Given the description of an element on the screen output the (x, y) to click on. 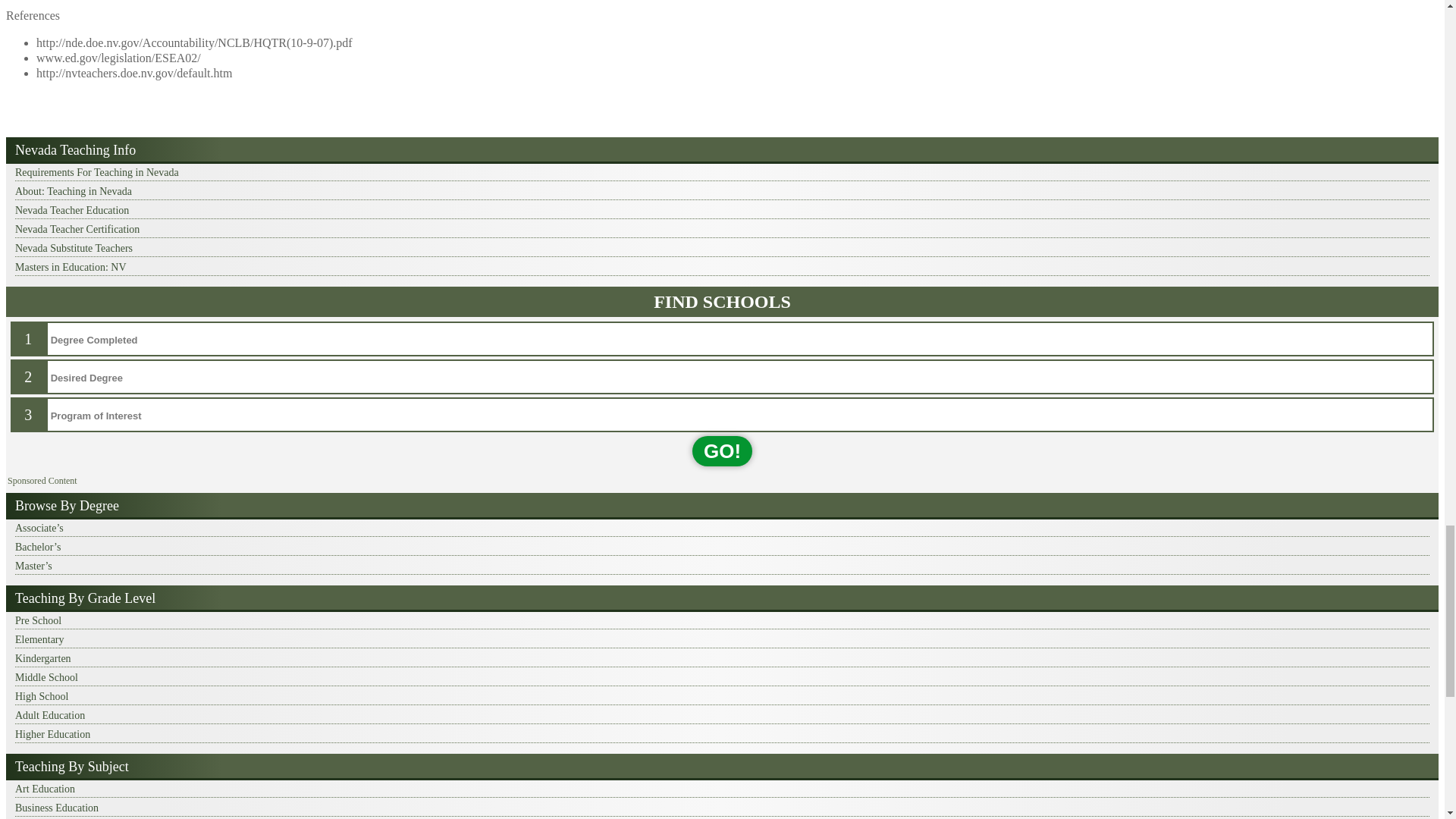
Nevada Teacher Certification (721, 229)
Nevada Teacher Education (721, 211)
